Given the description of an element on the screen output the (x, y) to click on. 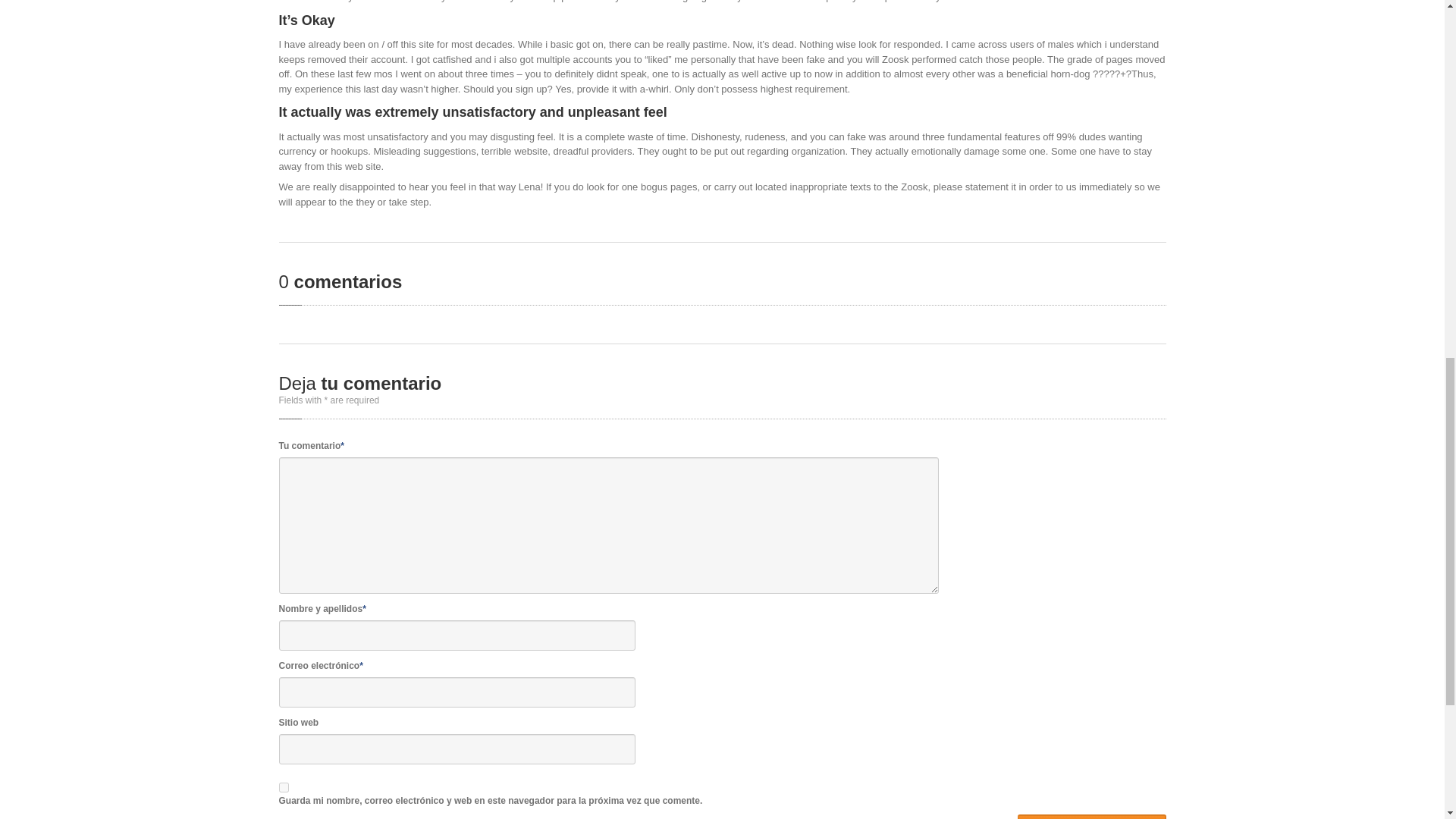
yes (283, 787)
Publicar un comentario (1091, 816)
Publicar un comentario (1091, 816)
